Given the description of an element on the screen output the (x, y) to click on. 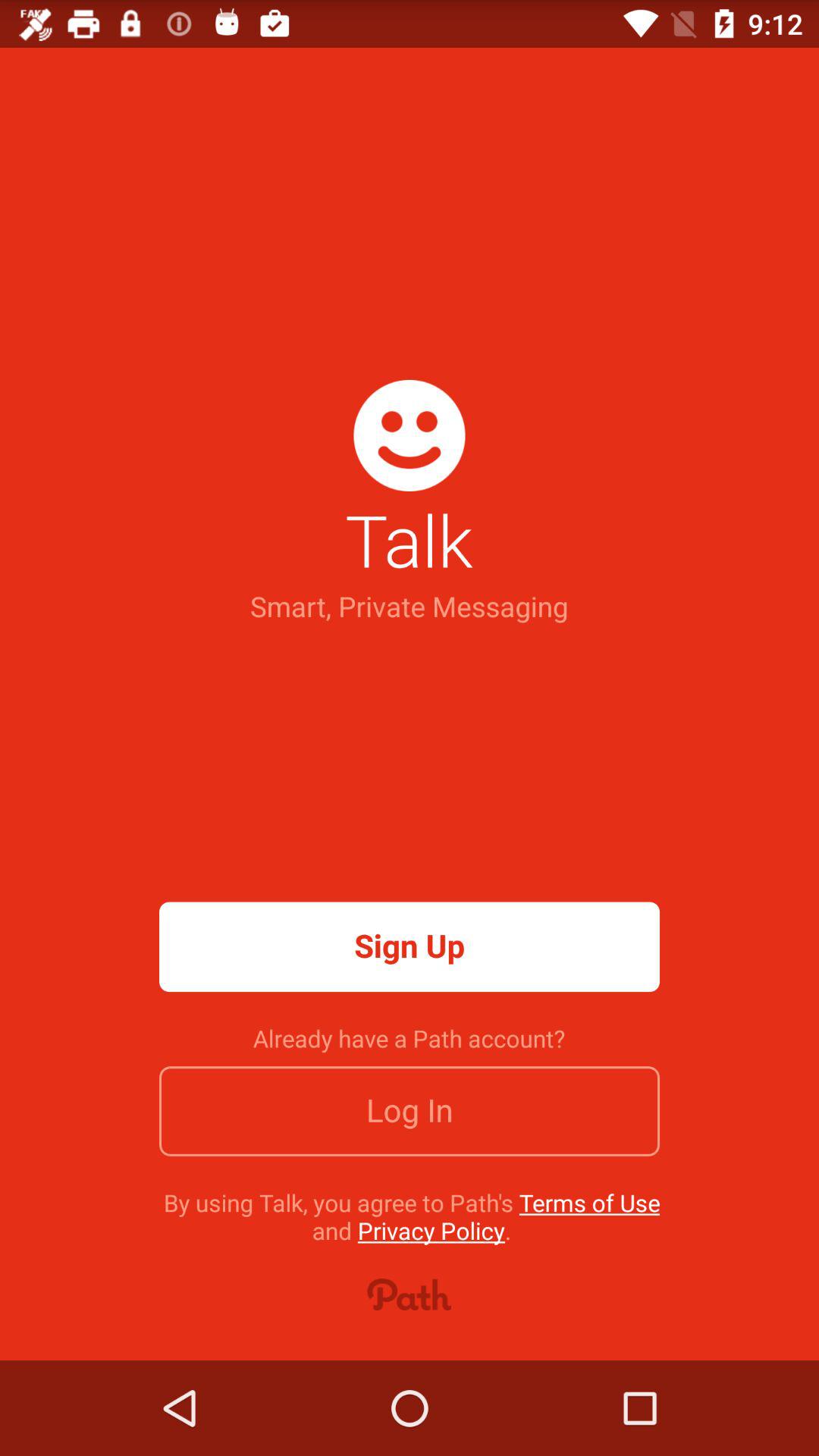
click item above the by using talk item (409, 1111)
